Given the description of an element on the screen output the (x, y) to click on. 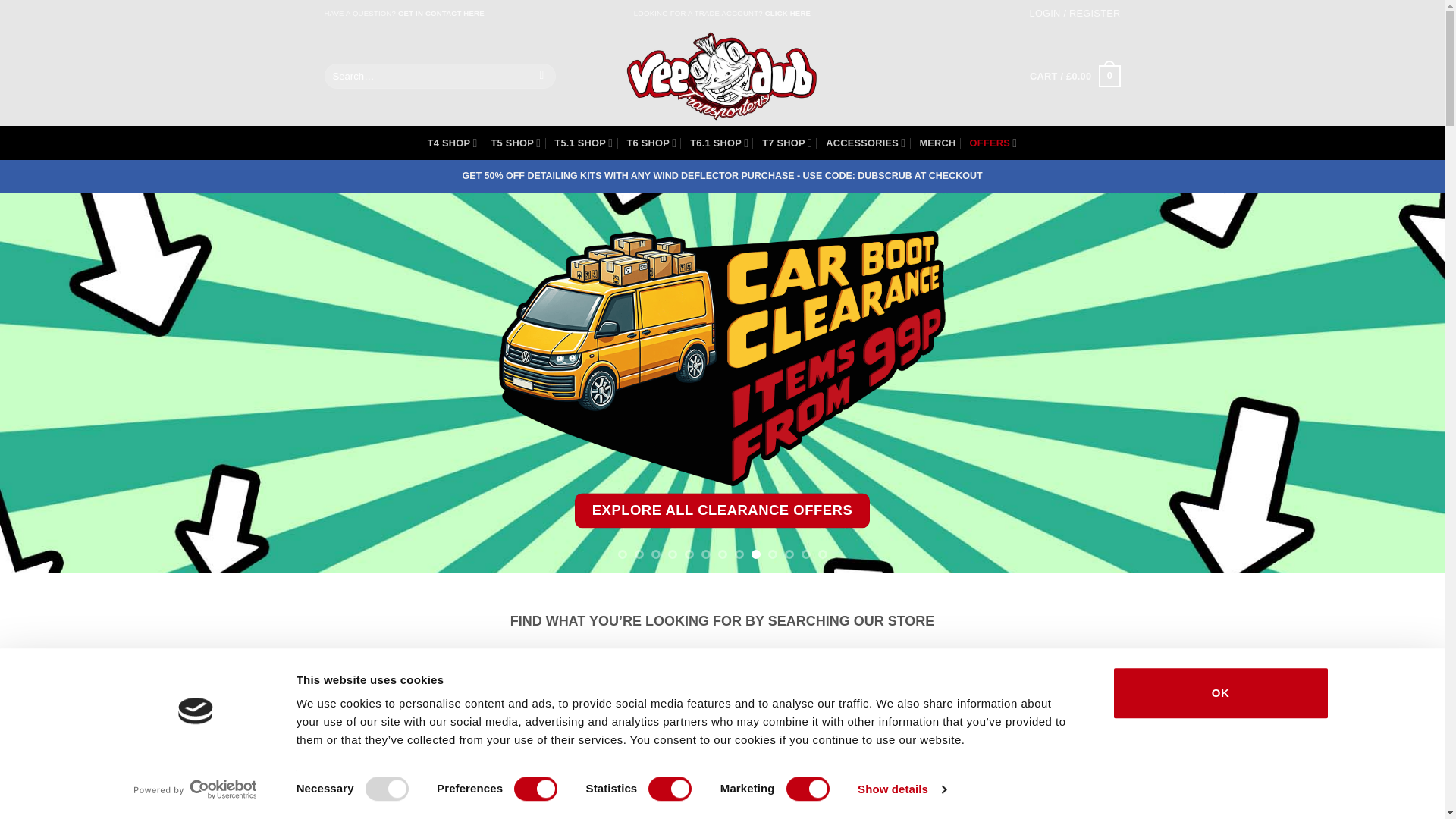
Show details (721, 13)
Cart (404, 13)
T4 SHOP (900, 789)
Search (1074, 76)
OK (452, 142)
